Given the description of an element on the screen output the (x, y) to click on. 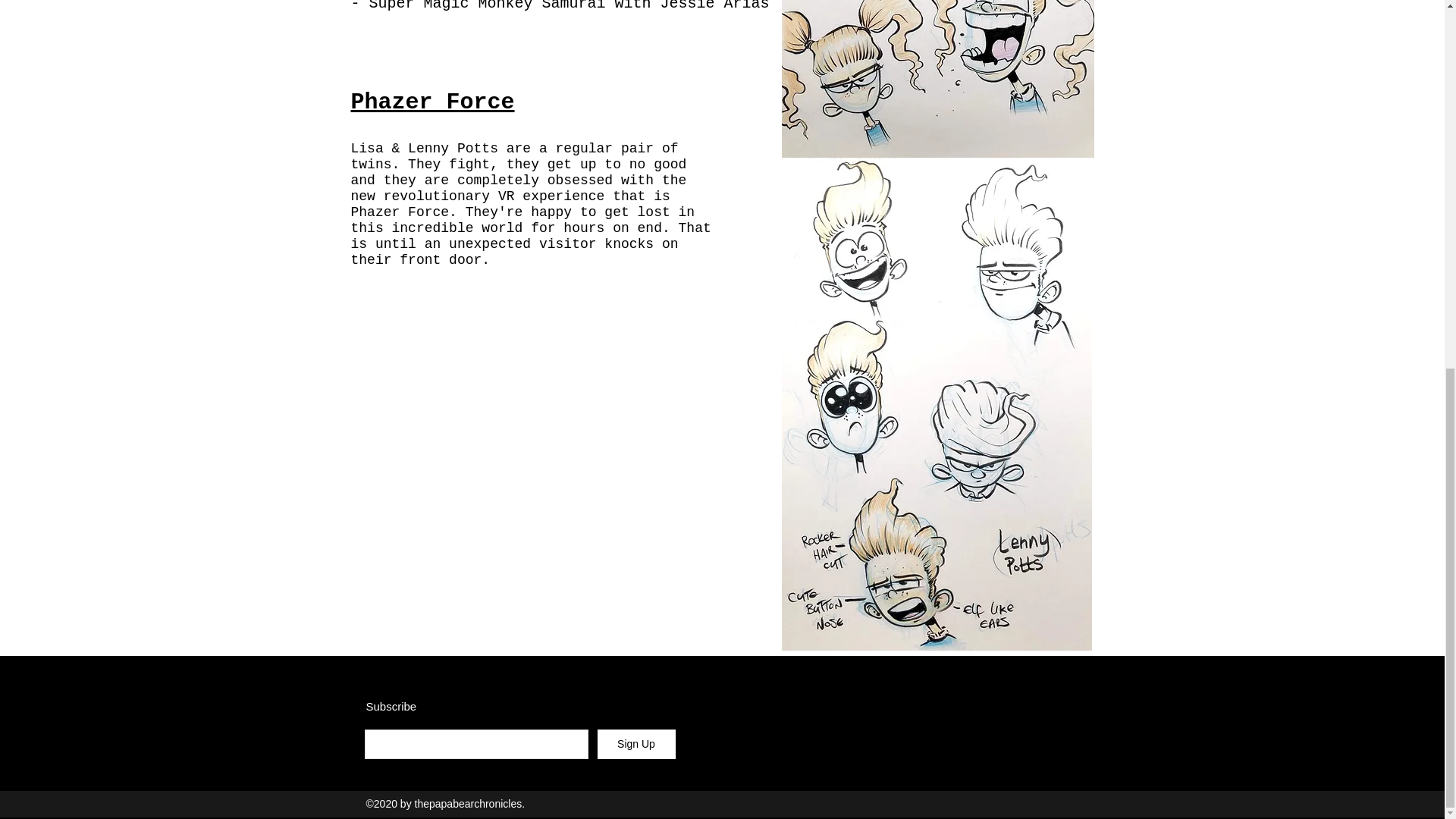
Sign Up (635, 744)
